Given the description of an element on the screen output the (x, y) to click on. 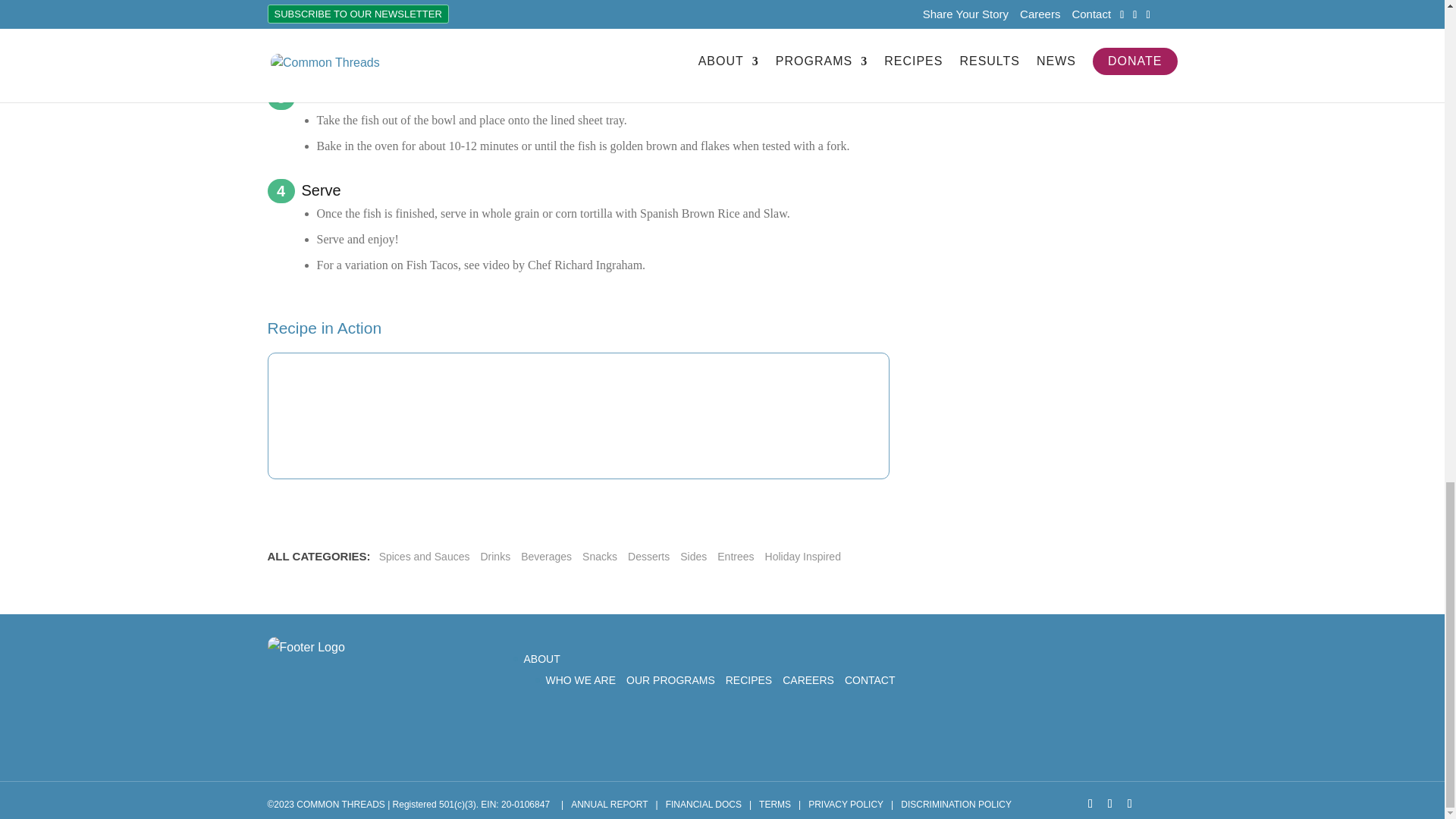
Sides (693, 557)
Desserts (649, 557)
Beverages (545, 557)
Snacks (599, 557)
Entrees (734, 557)
Spices and Sauces (425, 557)
Drinks (494, 557)
